Given the description of an element on the screen output the (x, y) to click on. 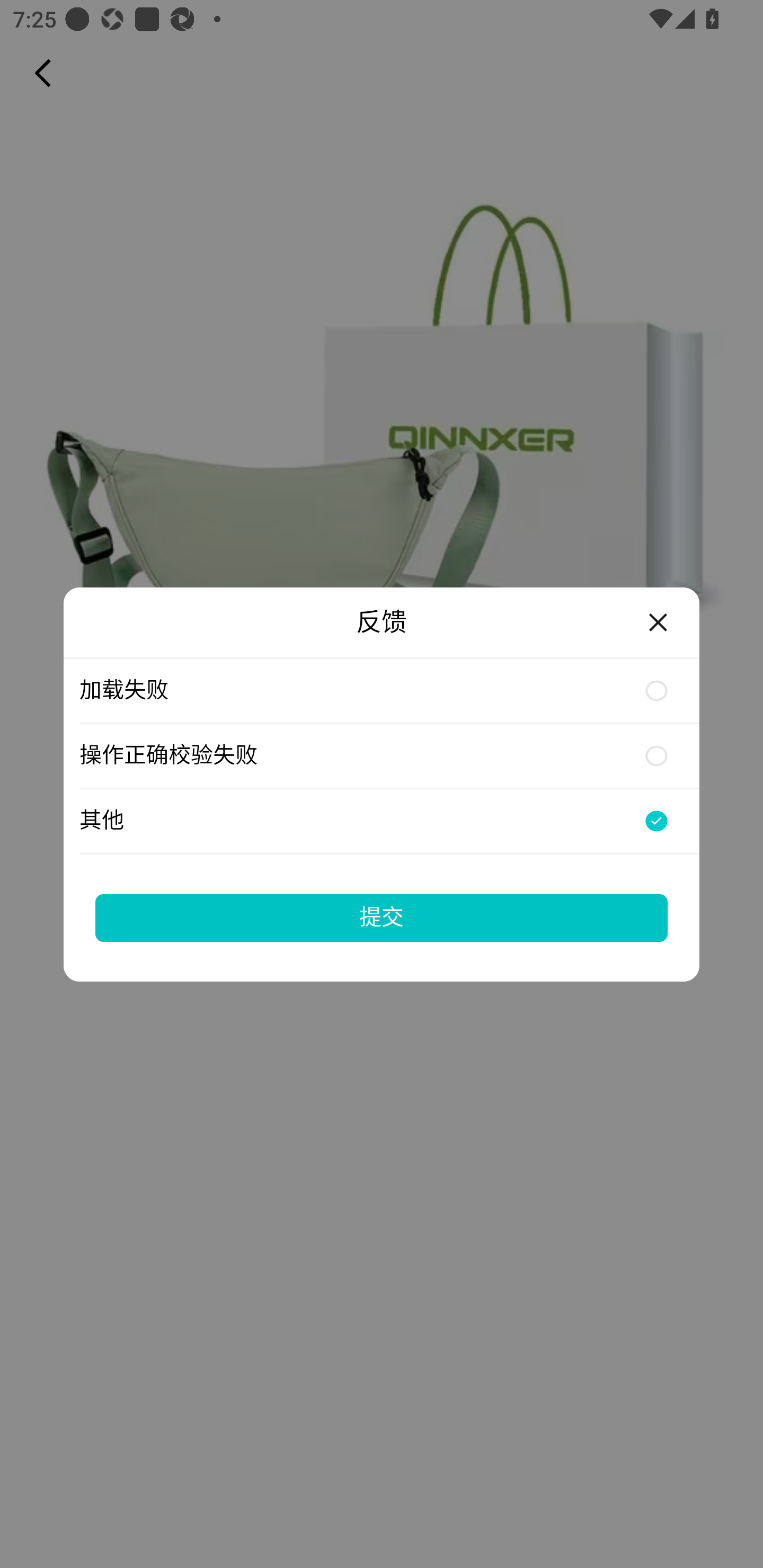
提交 (381, 917)
